Given the description of an element on the screen output the (x, y) to click on. 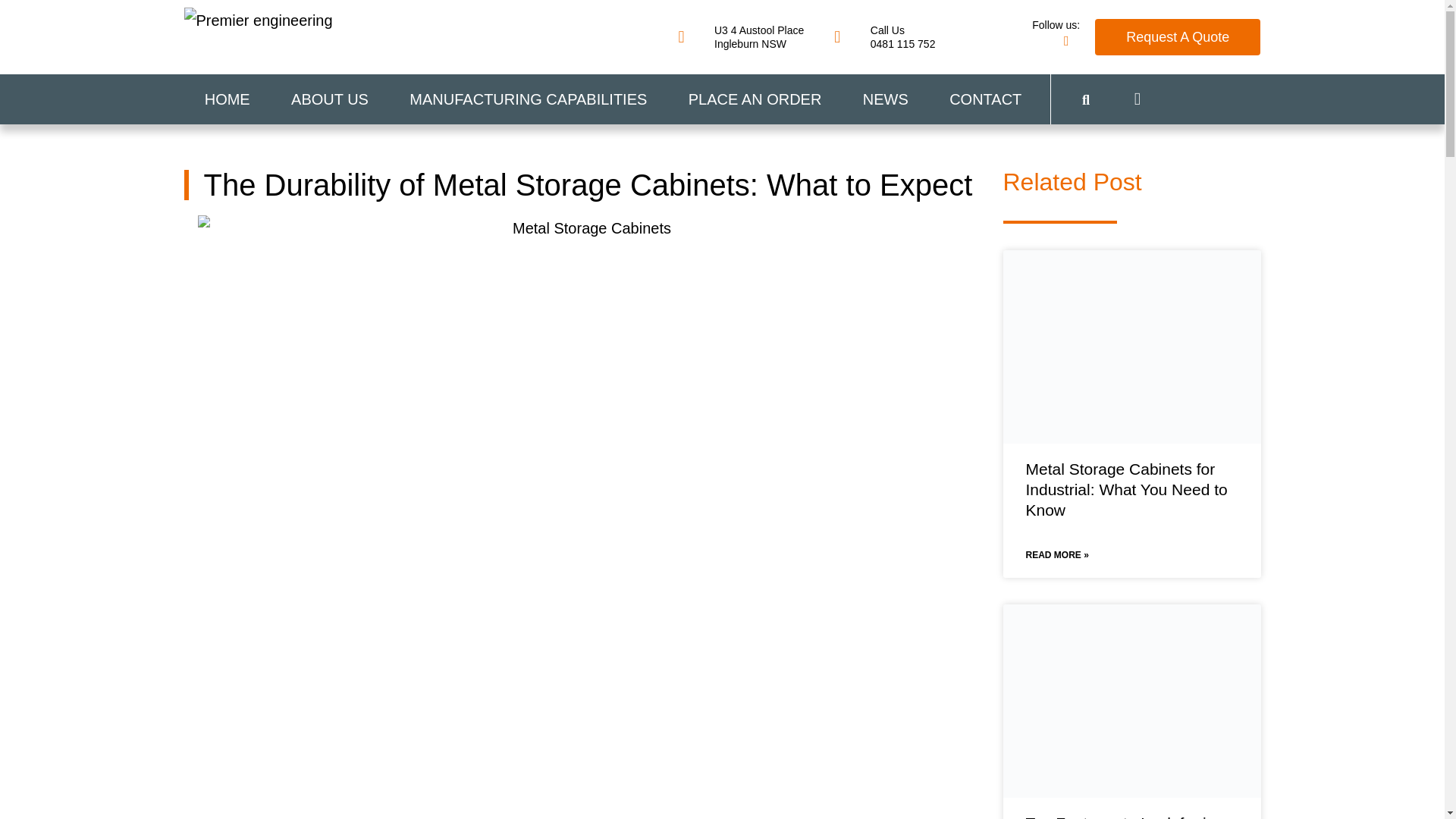
CONTACT (985, 99)
Request A Quote (740, 36)
PLACE AN ORDER (1177, 36)
HOME (755, 99)
ABOUT US (226, 99)
MANUFACTURING CAPABILITIES (884, 36)
NEWS (329, 99)
